Given the description of an element on the screen output the (x, y) to click on. 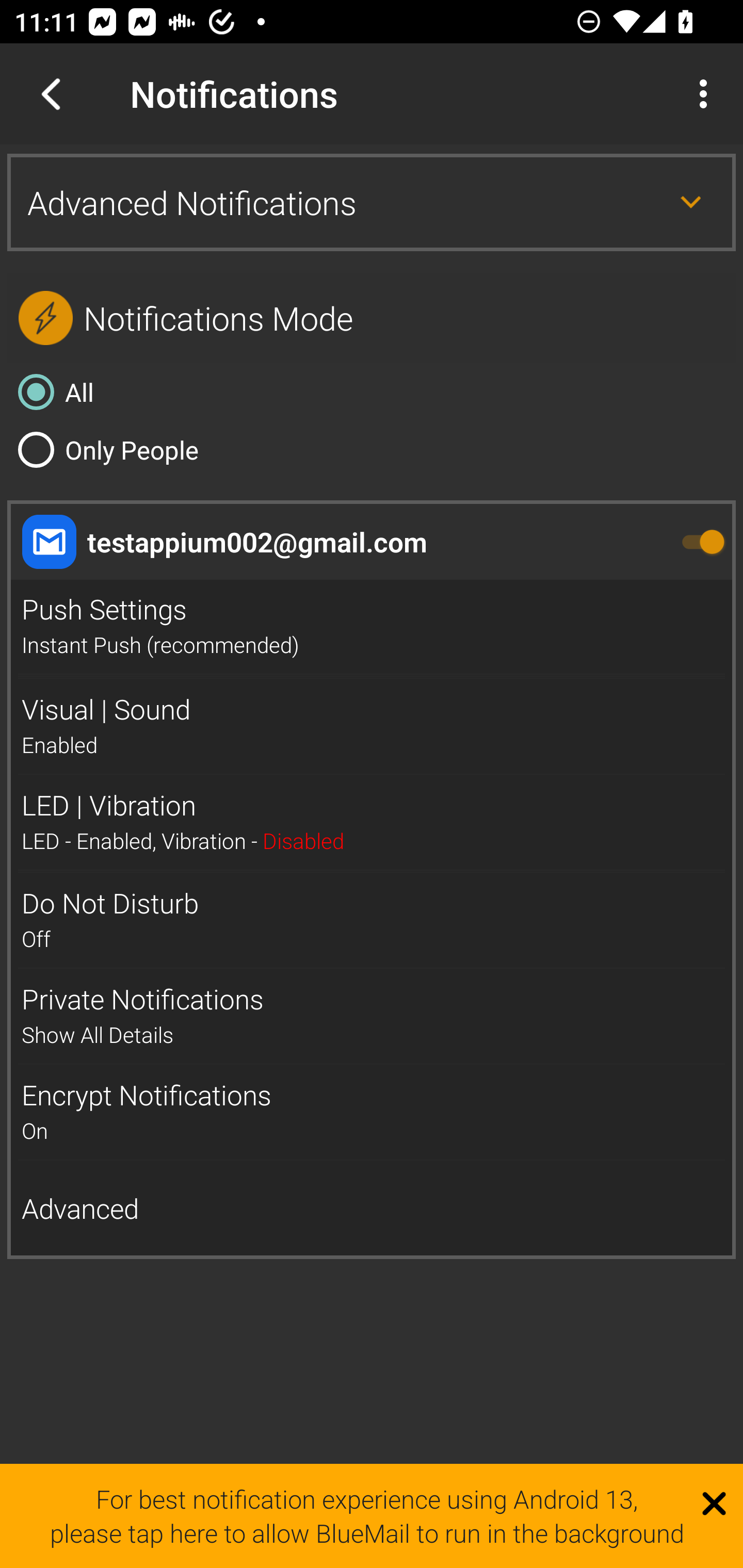
Navigate up (50, 93)
More options (706, 93)
Advanced Notifications (371, 201)
All (371, 391)
Only People (371, 449)
Push Settings Instant Push (recommended) (371, 627)
Visual | Sound Enabled (371, 726)
Do Not Disturb Off (371, 920)
Private Notifications Show All Details (371, 1016)
Encrypt Notifications On (371, 1112)
Advanced (371, 1208)
